Given the description of an element on the screen output the (x, y) to click on. 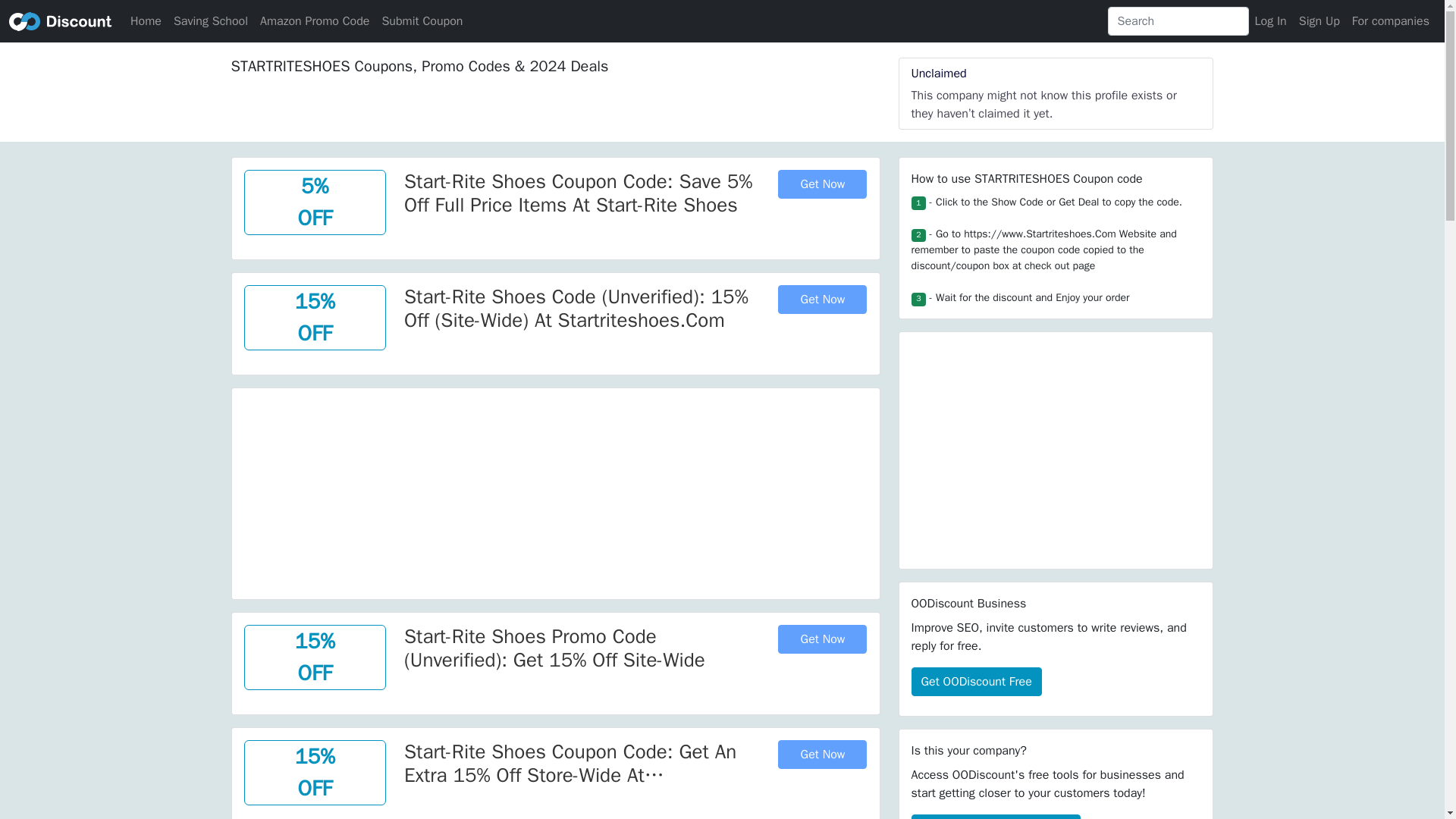
Get Now (821, 184)
Get Now (821, 299)
Amazon Promo Code (314, 20)
Sign Up (1318, 20)
Saving School (210, 20)
Submit Coupon (421, 20)
For companies (1390, 20)
Get Now (821, 754)
Get Now (821, 638)
Advertisement (555, 494)
